Given the description of an element on the screen output the (x, y) to click on. 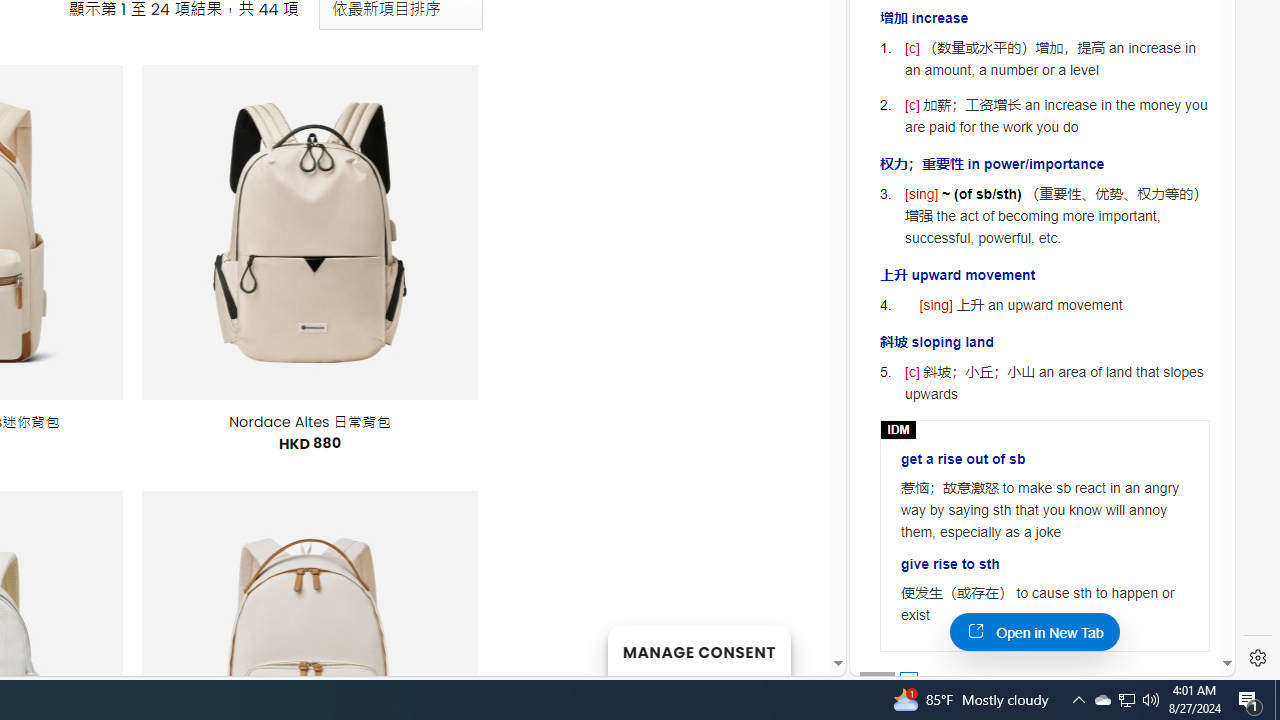
AutomationID: posbtn_1 (908, 680)
MANAGE CONSENT (698, 650)
